Given the description of an element on the screen output the (x, y) to click on. 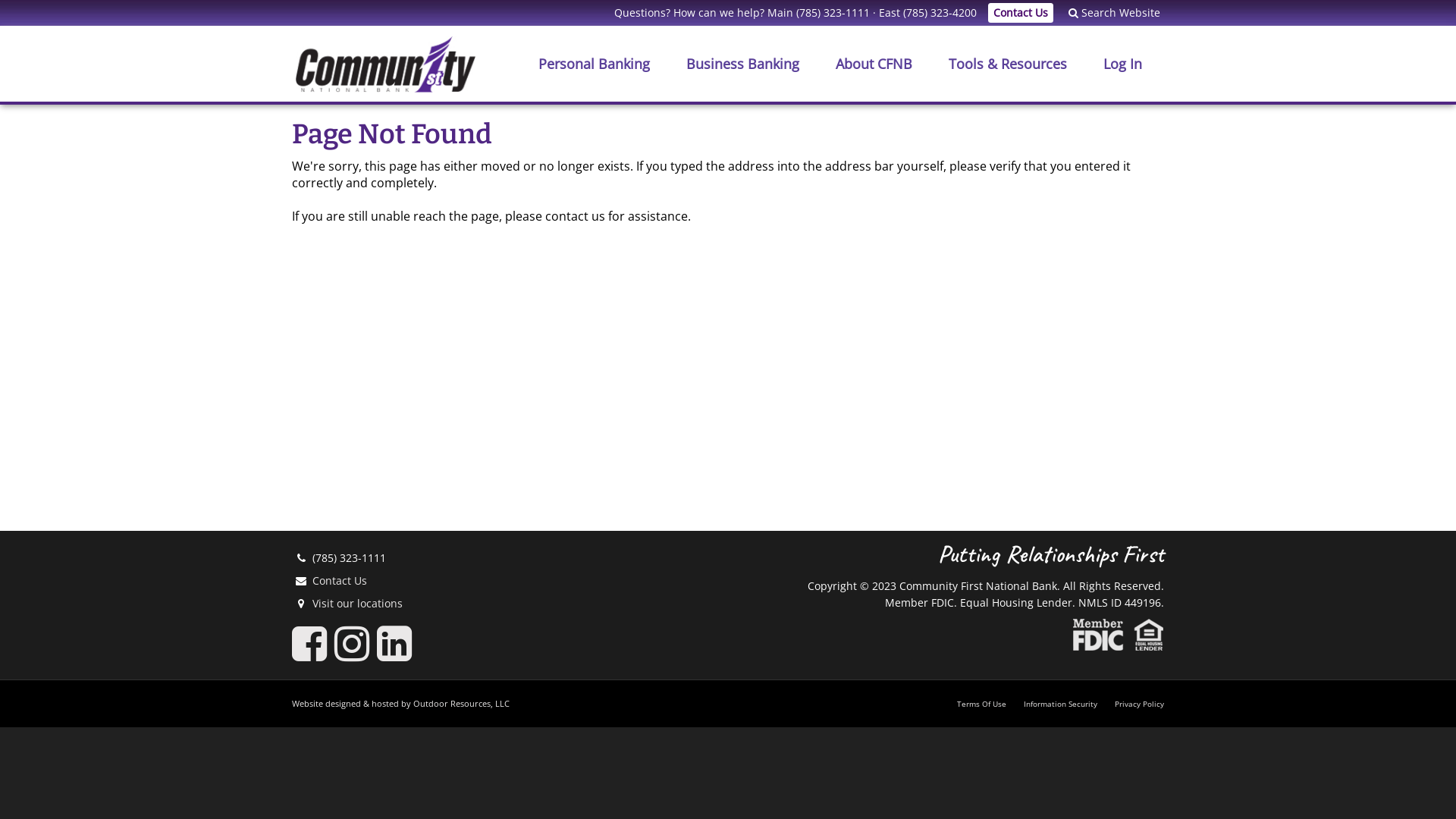
Privacy Policy Element type: text (1139, 703)
Tools & Resources Element type: text (1007, 63)
Contact Us Element type: text (1020, 12)
Outdoor Resources, LLC Element type: text (461, 703)
Visit our locations Element type: text (357, 603)
Log In Element type: text (1122, 63)
Search Website Element type: text (1106, 12)
Information Security Element type: text (1060, 703)
Personal Banking Element type: text (594, 63)
About CFNB Element type: text (873, 63)
Terms Of Use Element type: text (981, 703)
Business Banking Element type: text (742, 63)
Contact Us Element type: text (339, 580)
